Given the description of an element on the screen output the (x, y) to click on. 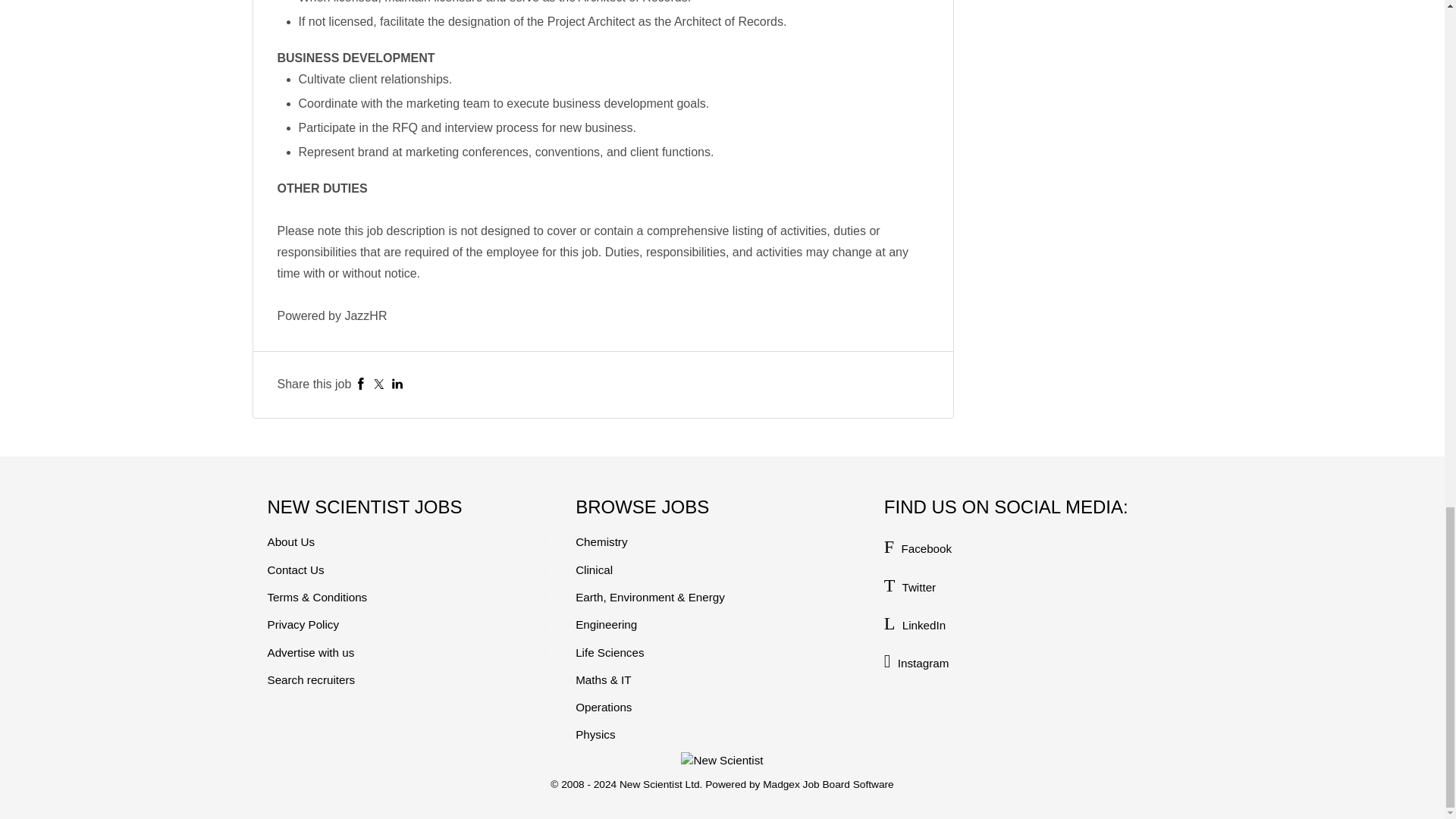
Facebook (360, 383)
LinkedIn (397, 383)
Twitter (378, 383)
